Given the description of an element on the screen output the (x, y) to click on. 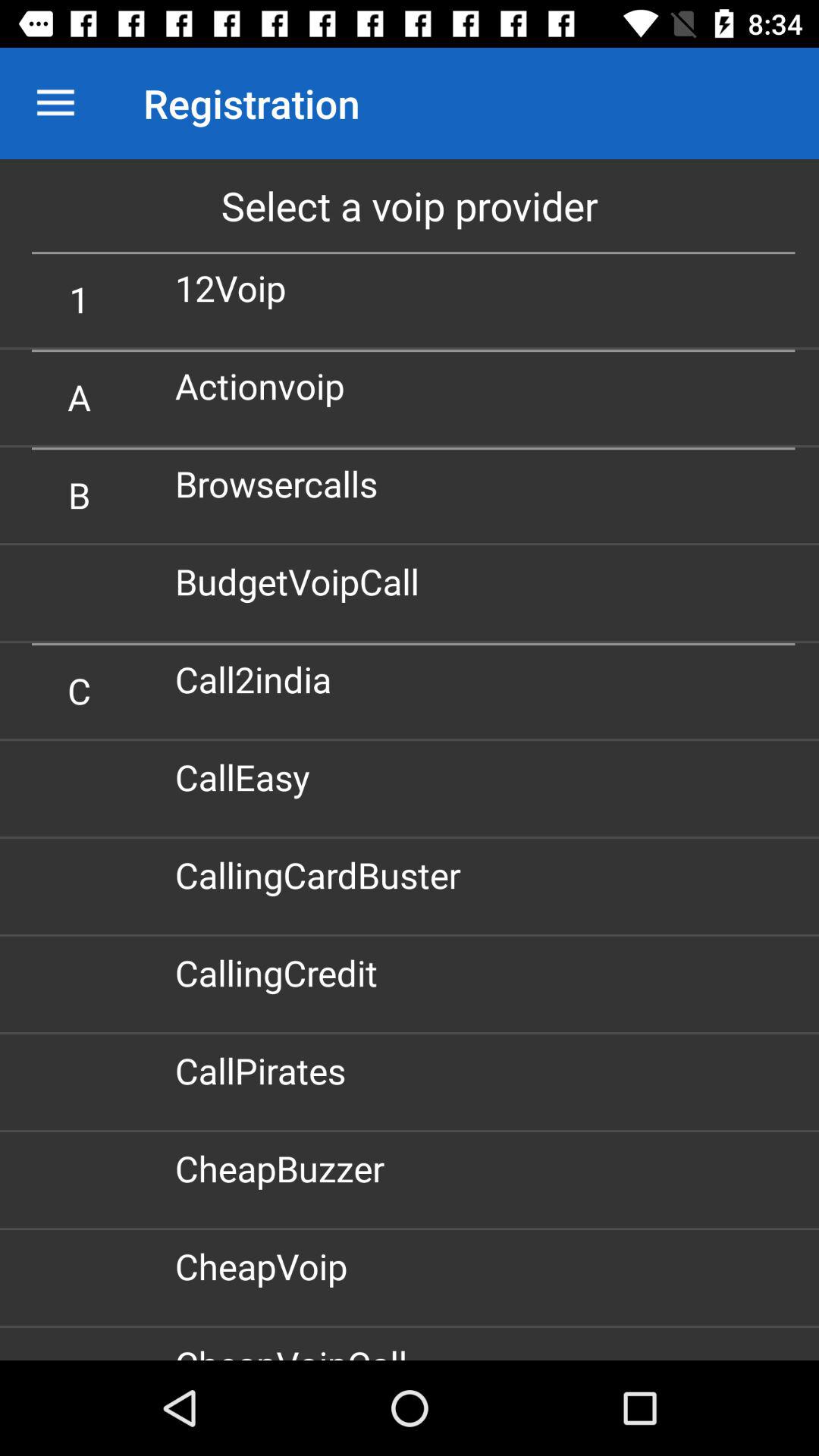
turn on the calleasy icon (248, 777)
